Given the description of an element on the screen output the (x, y) to click on. 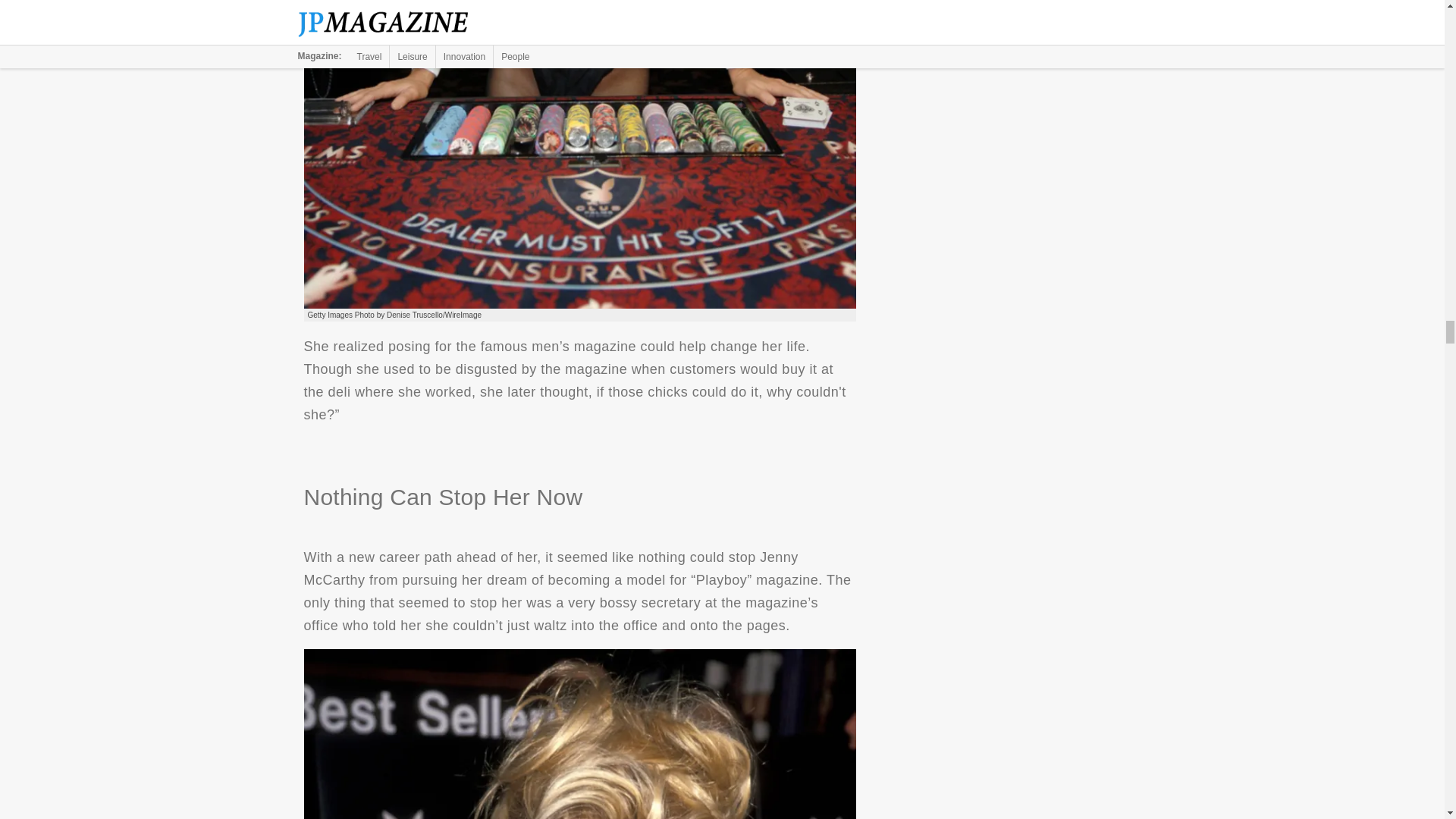
Nothing Can Stop Her Now (579, 734)
